Given the description of an element on the screen output the (x, y) to click on. 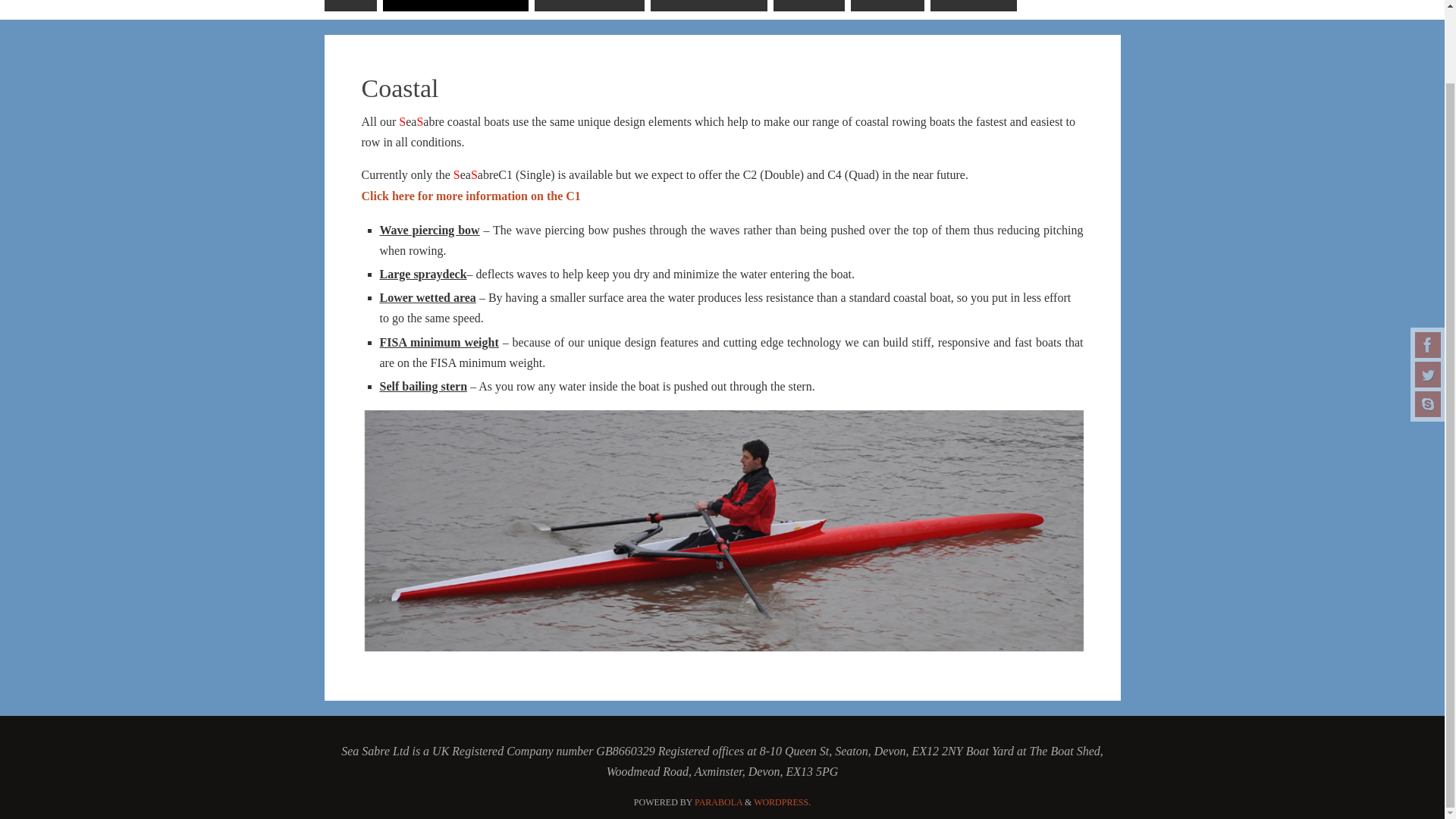
THE SEASABRE RANGE (455, 5)
Parabola Theme by Cryout Creations (718, 801)
ABOUT US (887, 5)
Click here for more information on the C1 (470, 195)
SeaSabre Facebook page (1428, 263)
PARABOLA (718, 801)
Semantic Personal Publishing Platform (782, 801)
WORDPRESS. (782, 801)
HOME (350, 5)
Skype (1428, 321)
